Given the description of an element on the screen output the (x, y) to click on. 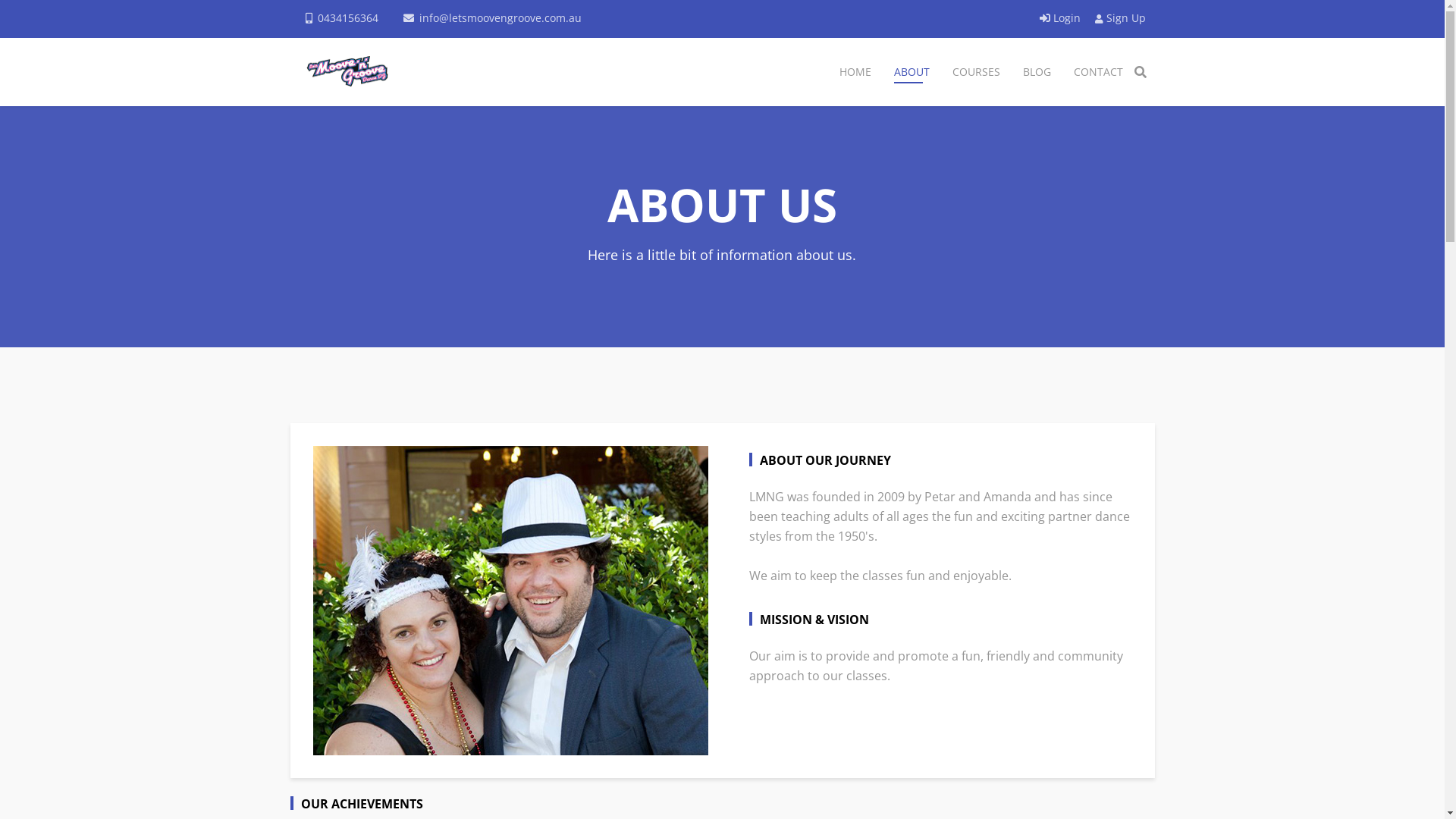
CONTACT Element type: text (1097, 71)
HOME Element type: text (855, 71)
Sign Up Element type: text (1120, 17)
ABOUT Element type: text (911, 71)
Login Element type: text (1060, 17)
COURSES Element type: text (975, 71)
0434156364 Element type: text (346, 17)
info@letsmoovengroove.com.au Element type: text (499, 17)
BLOG Element type: text (1036, 71)
